Given the description of an element on the screen output the (x, y) to click on. 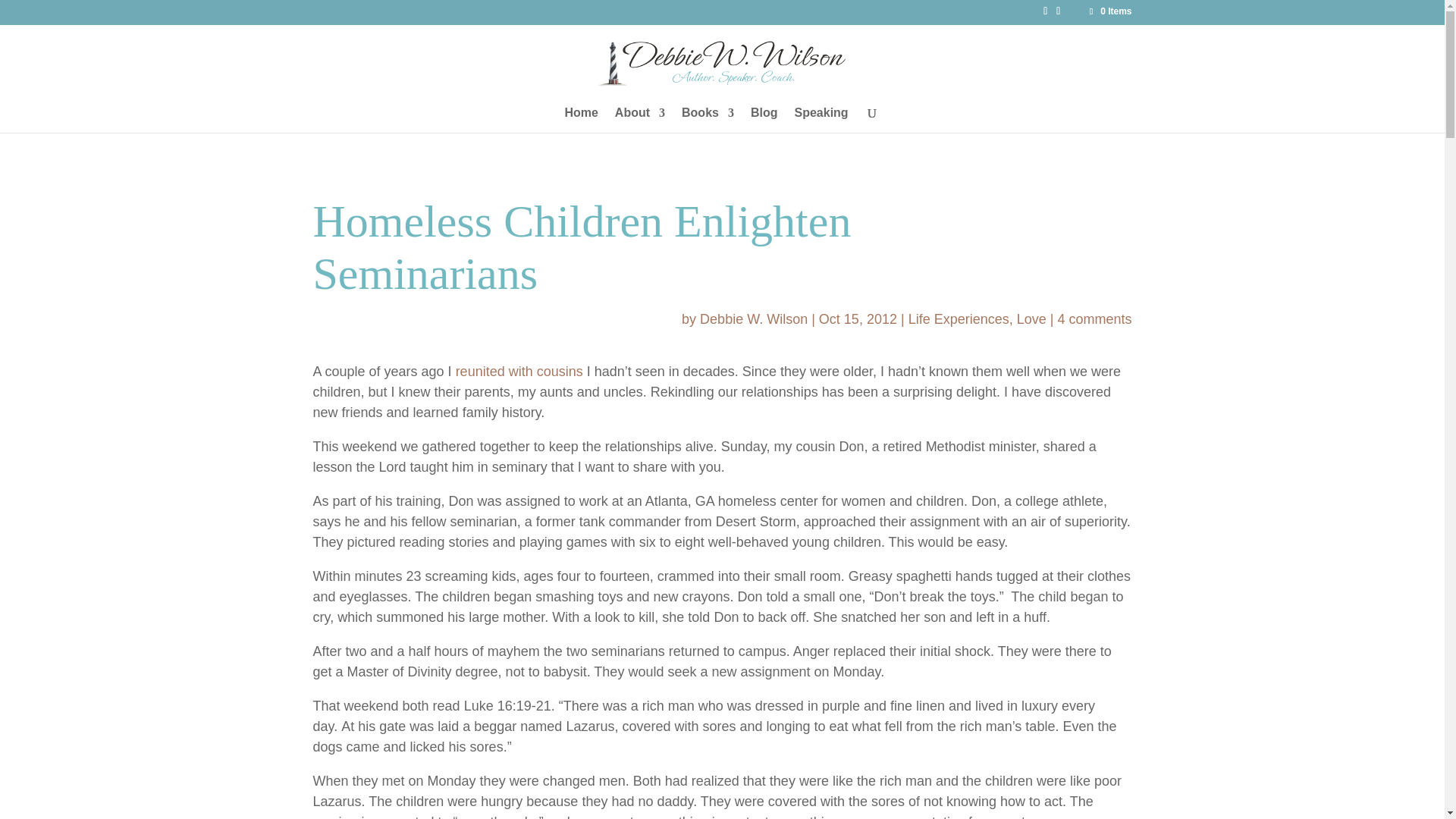
Speaking (820, 119)
Debbie W. Wilson (754, 319)
reunited with cousins (519, 371)
0 Items (1108, 10)
Love (1031, 319)
Life Experiences (958, 319)
Books (707, 119)
Blog (764, 119)
4 comments (1094, 319)
About (639, 119)
Home (580, 119)
Posts by Debbie W. Wilson (754, 319)
